Given the description of an element on the screen output the (x, y) to click on. 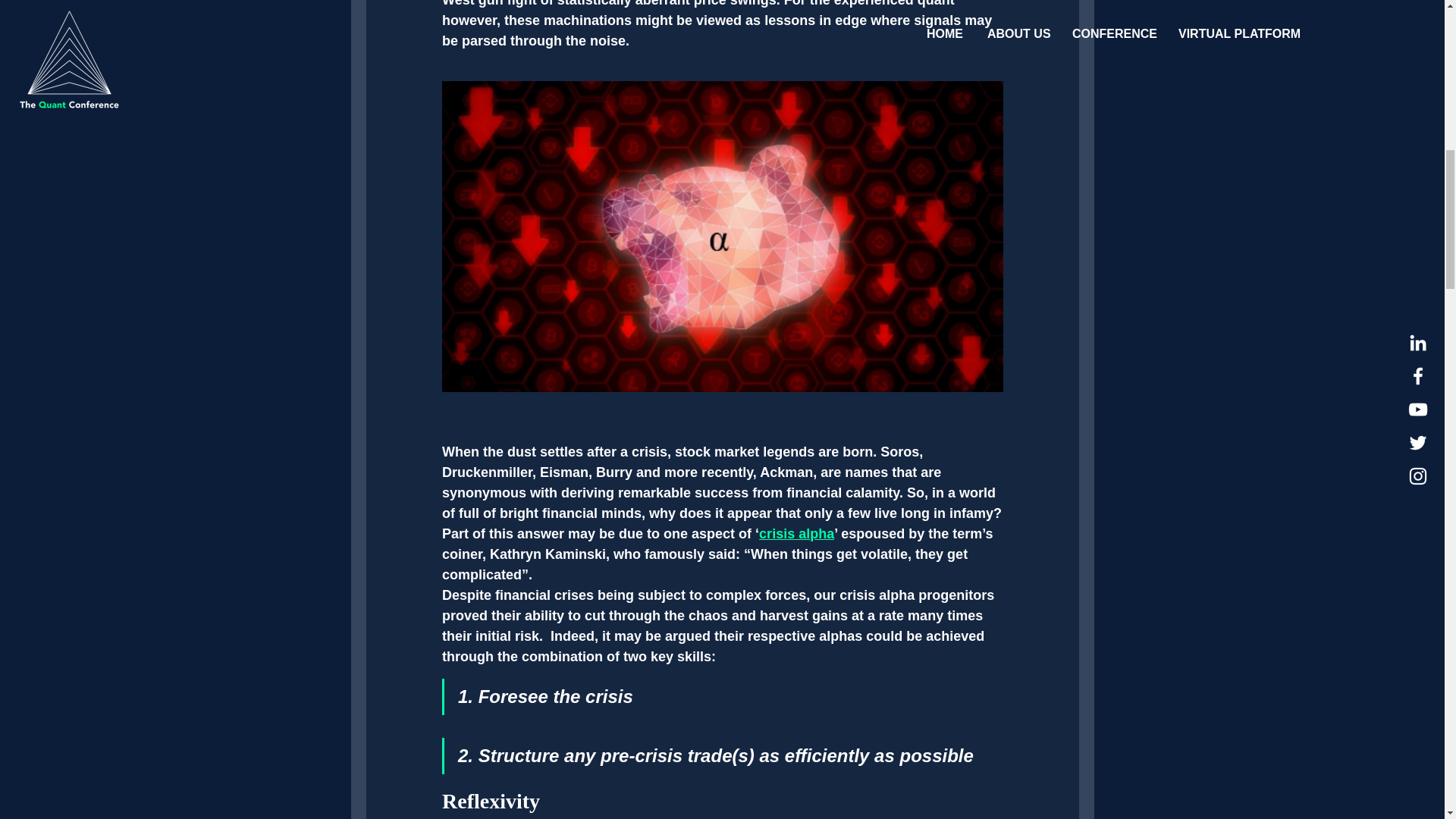
crisis alpha (796, 533)
